Given the description of an element on the screen output the (x, y) to click on. 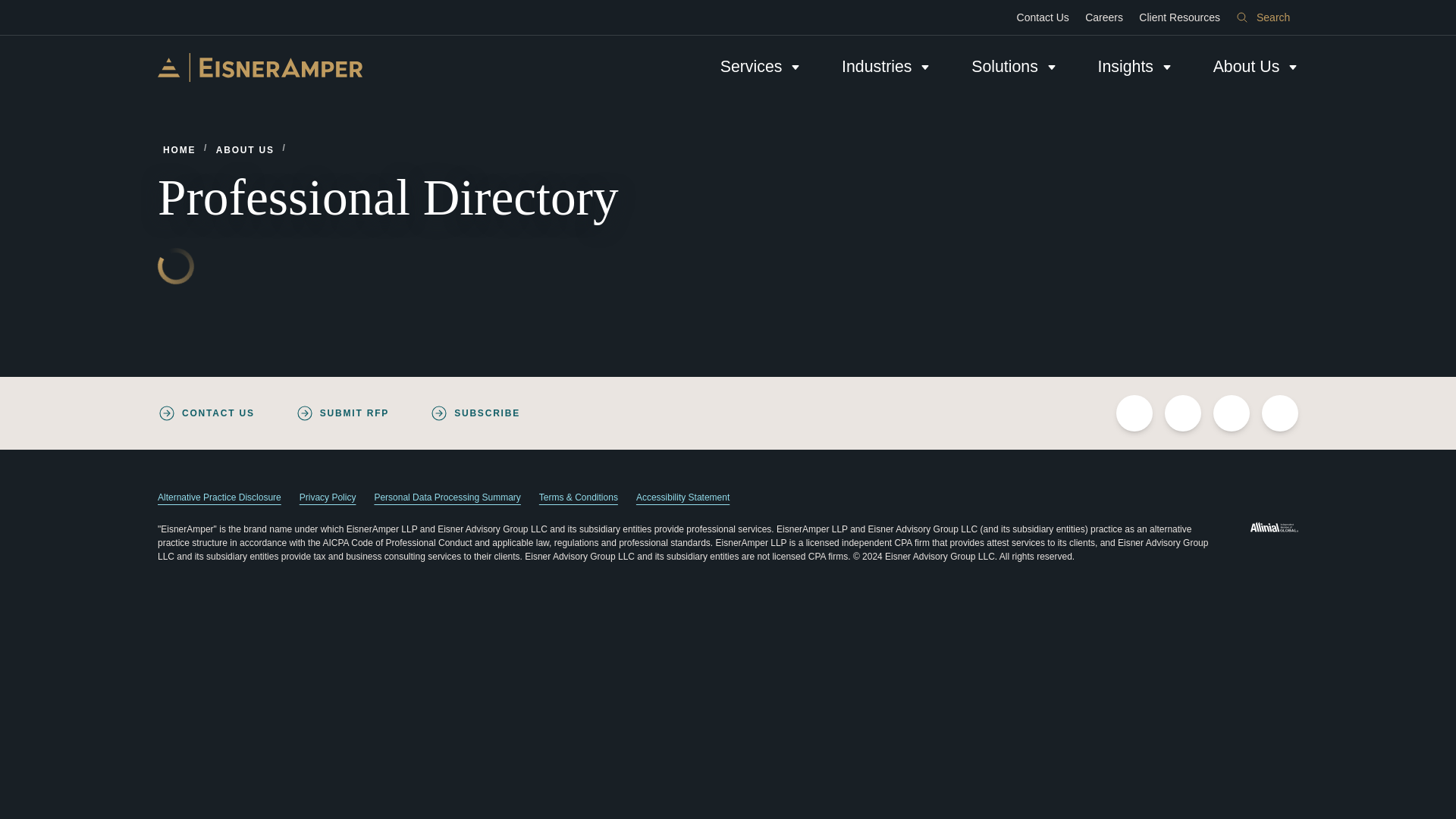
Careers (1104, 17)
Contact Us (1043, 17)
EisnerAmper Home (259, 67)
Services (760, 67)
Client Resources (1179, 17)
Search (1263, 17)
Skip to content (12, 6)
